Given the description of an element on the screen output the (x, y) to click on. 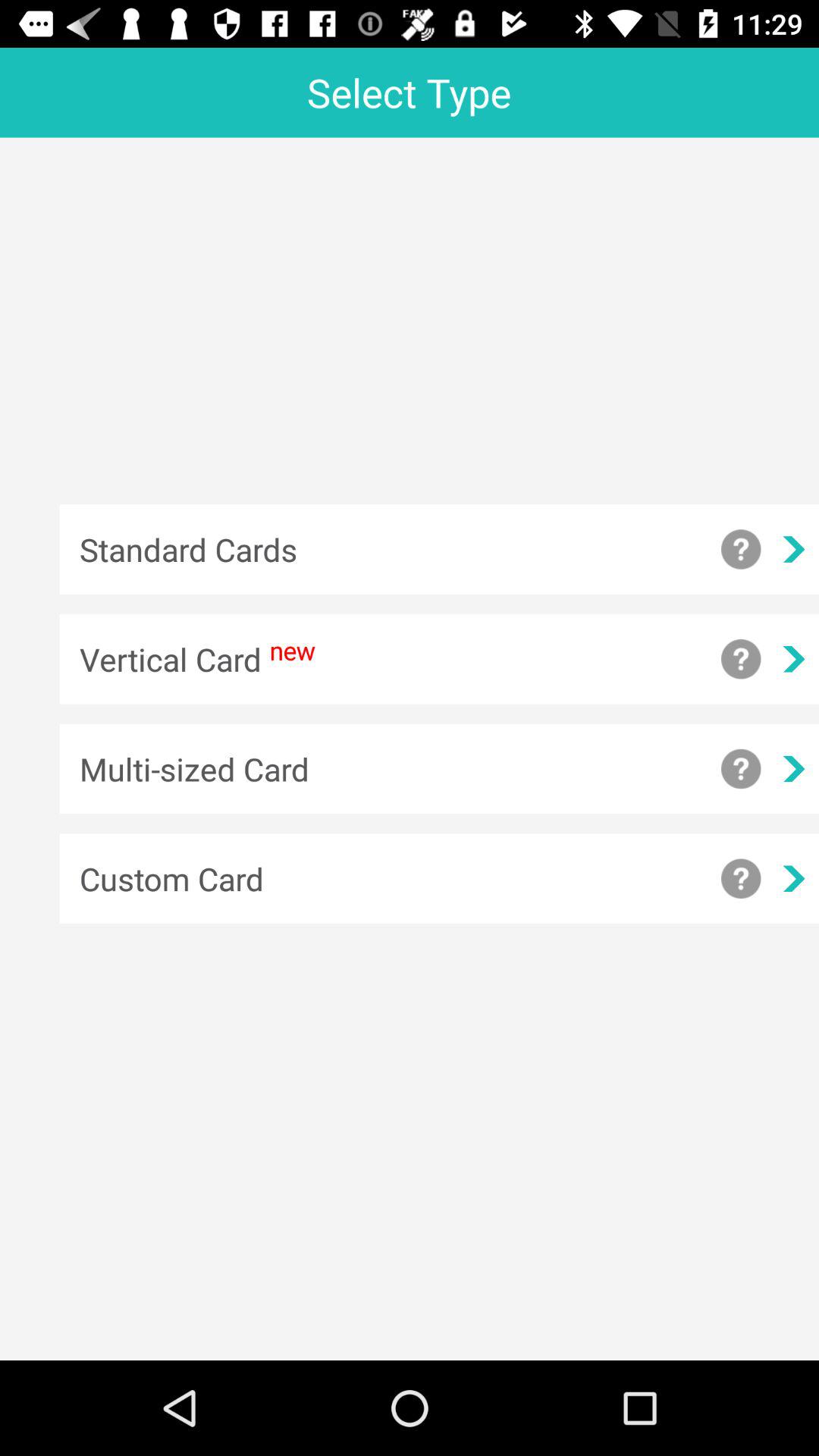
select for help (740, 659)
